Given the description of an element on the screen output the (x, y) to click on. 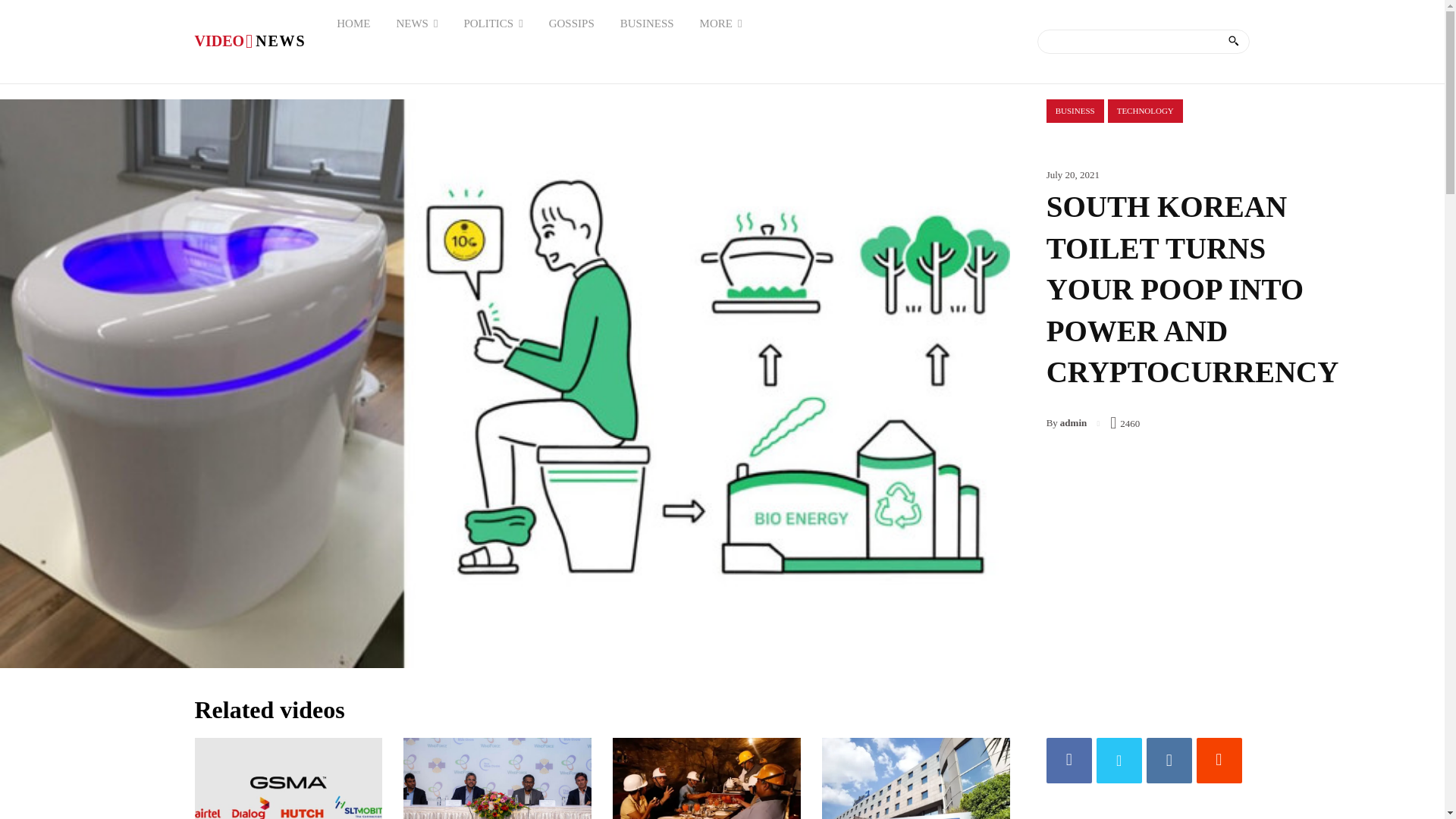
All four Sri Lanka telcos launch three Open Gateway APIs (287, 778)
NEWS (415, 23)
GOSSIPS (249, 40)
BUSINESS (571, 23)
HOME (647, 23)
POLITICS (352, 23)
